Given the description of an element on the screen output the (x, y) to click on. 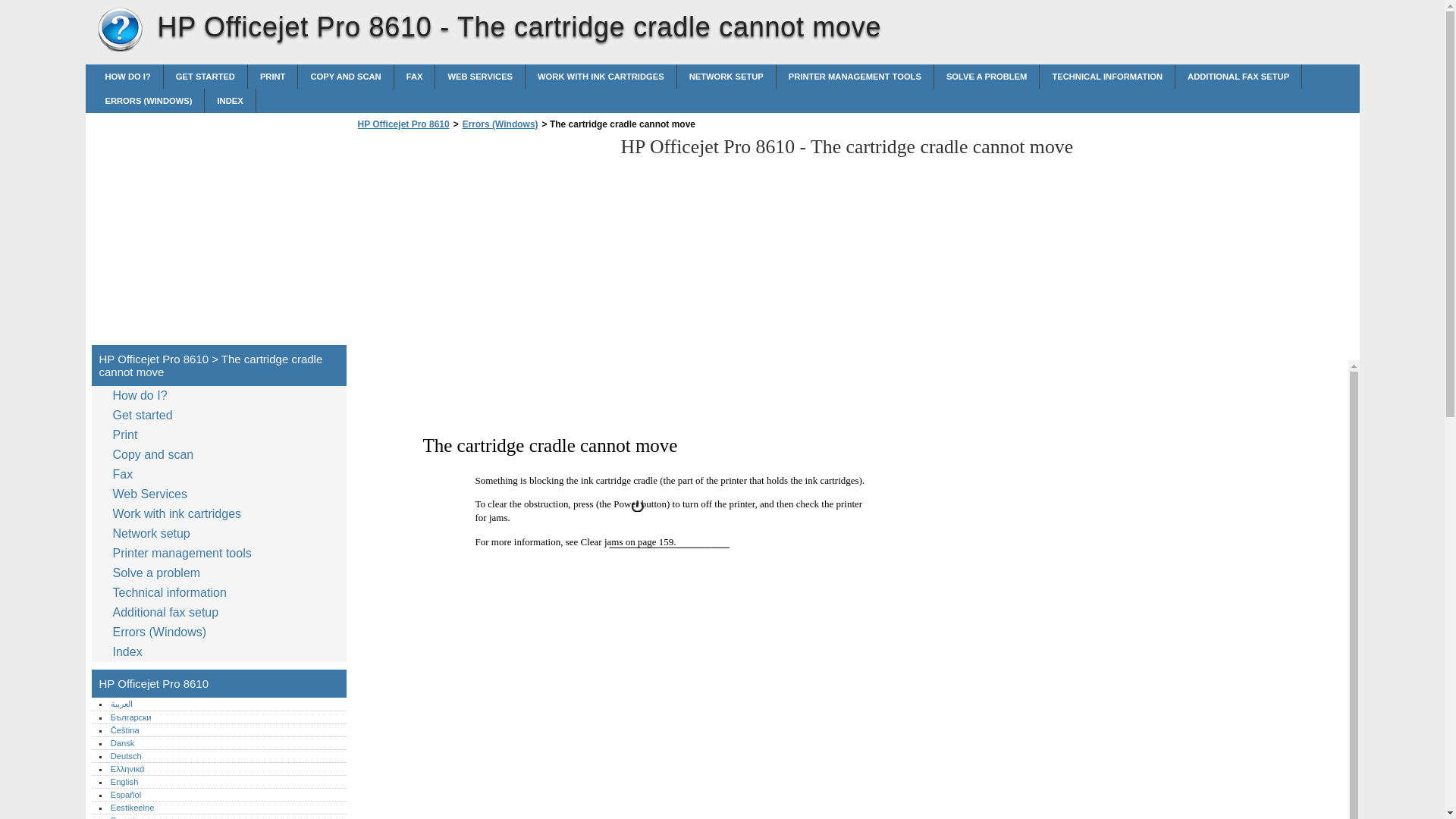
SOLVE A PROBLEM (986, 76)
Technical information (1106, 76)
How do I? (143, 395)
PRINTER MANAGEMENT TOOLS (854, 76)
GET STARTED (205, 76)
Web Services (479, 76)
Fax (414, 76)
Printer management tools (854, 76)
NETWORK SETUP (726, 76)
HP Officejet Pro 8610 (119, 30)
Copy and scan (345, 76)
Get started (145, 415)
WEB SERVICES (479, 76)
Print (272, 76)
INDEX (229, 100)
